Given the description of an element on the screen output the (x, y) to click on. 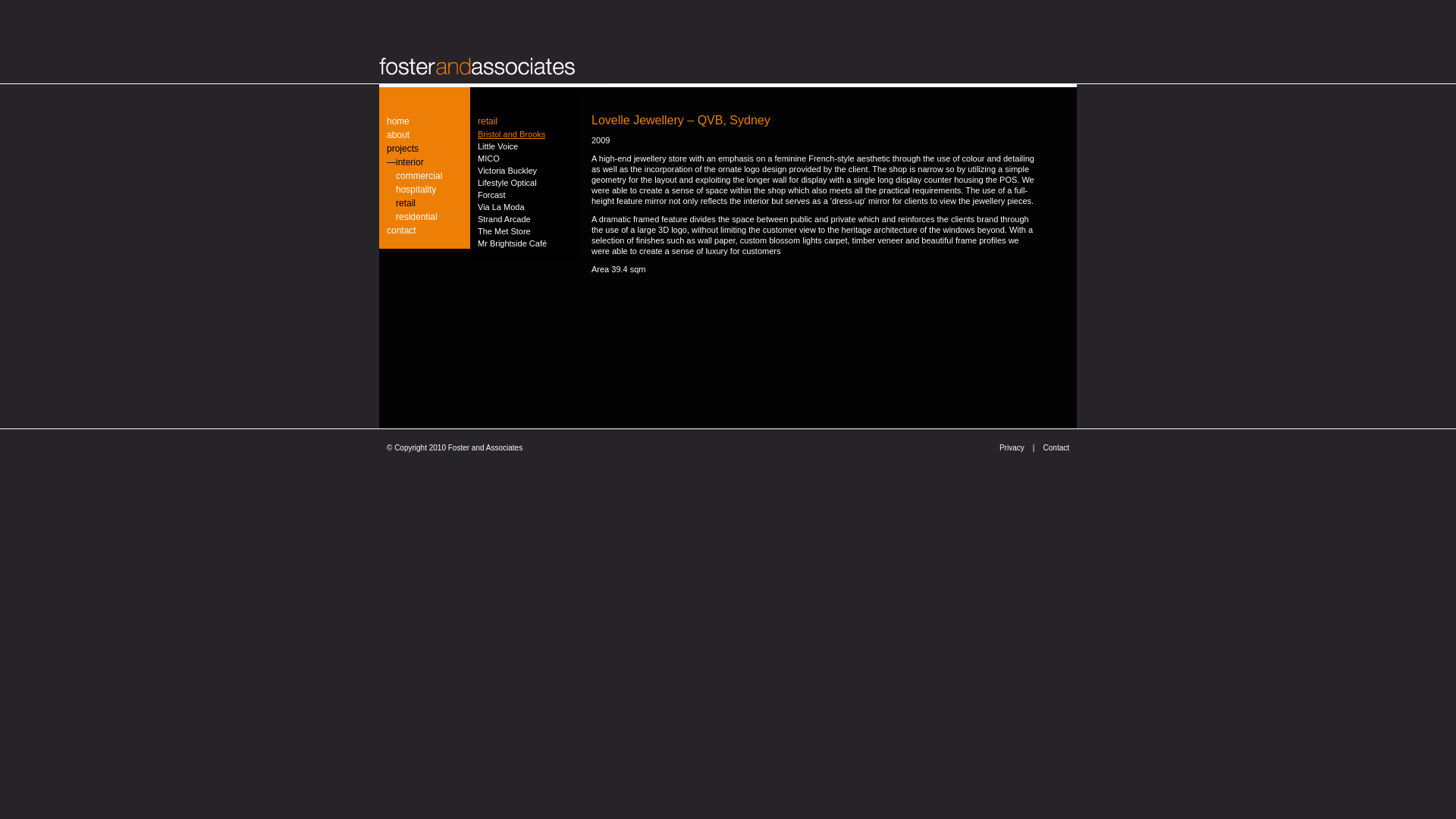
home Element type: text (424, 121)
The Met Store Element type: text (523, 231)
Privacy Element type: text (1011, 447)
projects Element type: text (424, 148)
Bristol and Brooks Element type: text (523, 134)
about Element type: text (424, 134)
retail Element type: text (424, 203)
Lifestyle Optical Element type: text (523, 182)
Victoria Buckley Element type: text (523, 170)
commercial Element type: text (424, 175)
residential Element type: text (424, 216)
Via La Moda Element type: text (523, 206)
Forcast Element type: text (523, 194)
Strand Arcade Element type: text (523, 219)
Contact Element type: text (1056, 447)
MICO Element type: text (523, 158)
Little Voice Element type: text (523, 146)
contact Element type: text (424, 230)
hospitality Element type: text (424, 189)
